Given the description of an element on the screen output the (x, y) to click on. 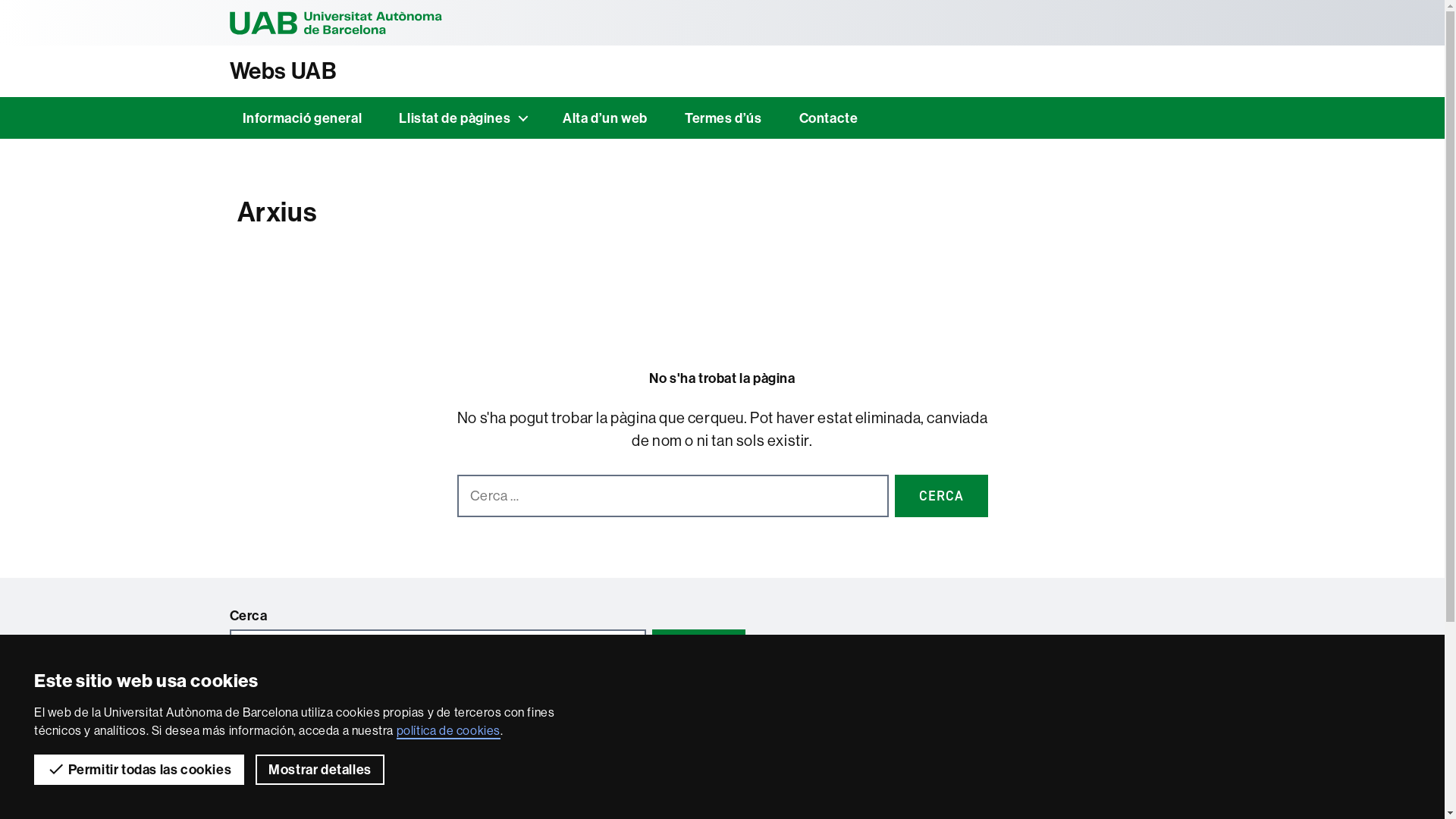
Cerca Element type: text (941, 495)
Webs UAB Element type: text (721, 70)
Permitir todas las cookies Element type: text (139, 769)
Contacte Element type: text (828, 117)
Mostrar detalles Element type: text (319, 769)
CERCA Element type: text (698, 650)
